Given the description of an element on the screen output the (x, y) to click on. 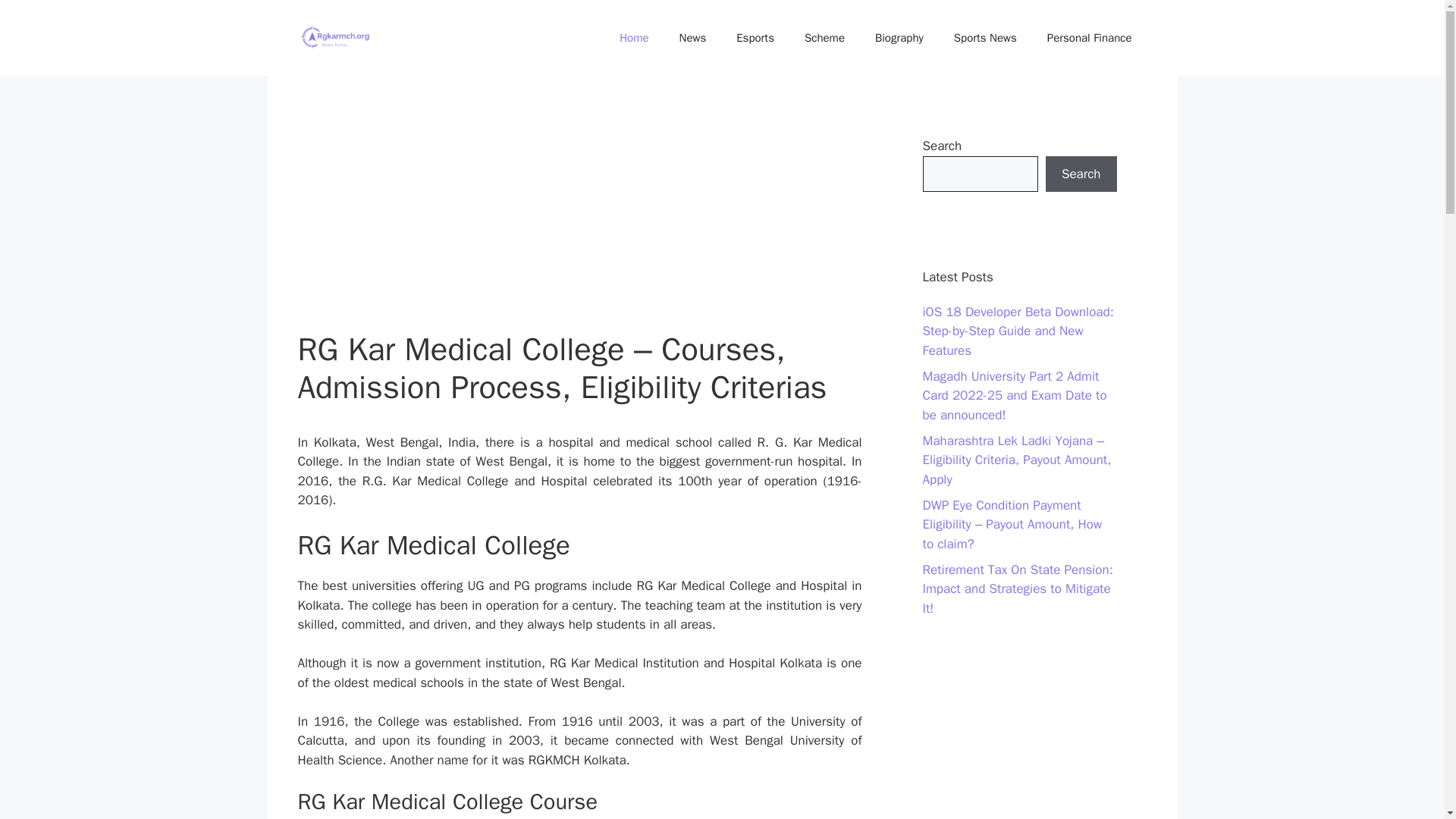
Home (633, 37)
Biography (899, 37)
Personal Finance (1089, 37)
Sports News (985, 37)
Advertisement (579, 218)
Esports (754, 37)
Search (1080, 174)
Scheme (824, 37)
News (692, 37)
